Given the description of an element on the screen output the (x, y) to click on. 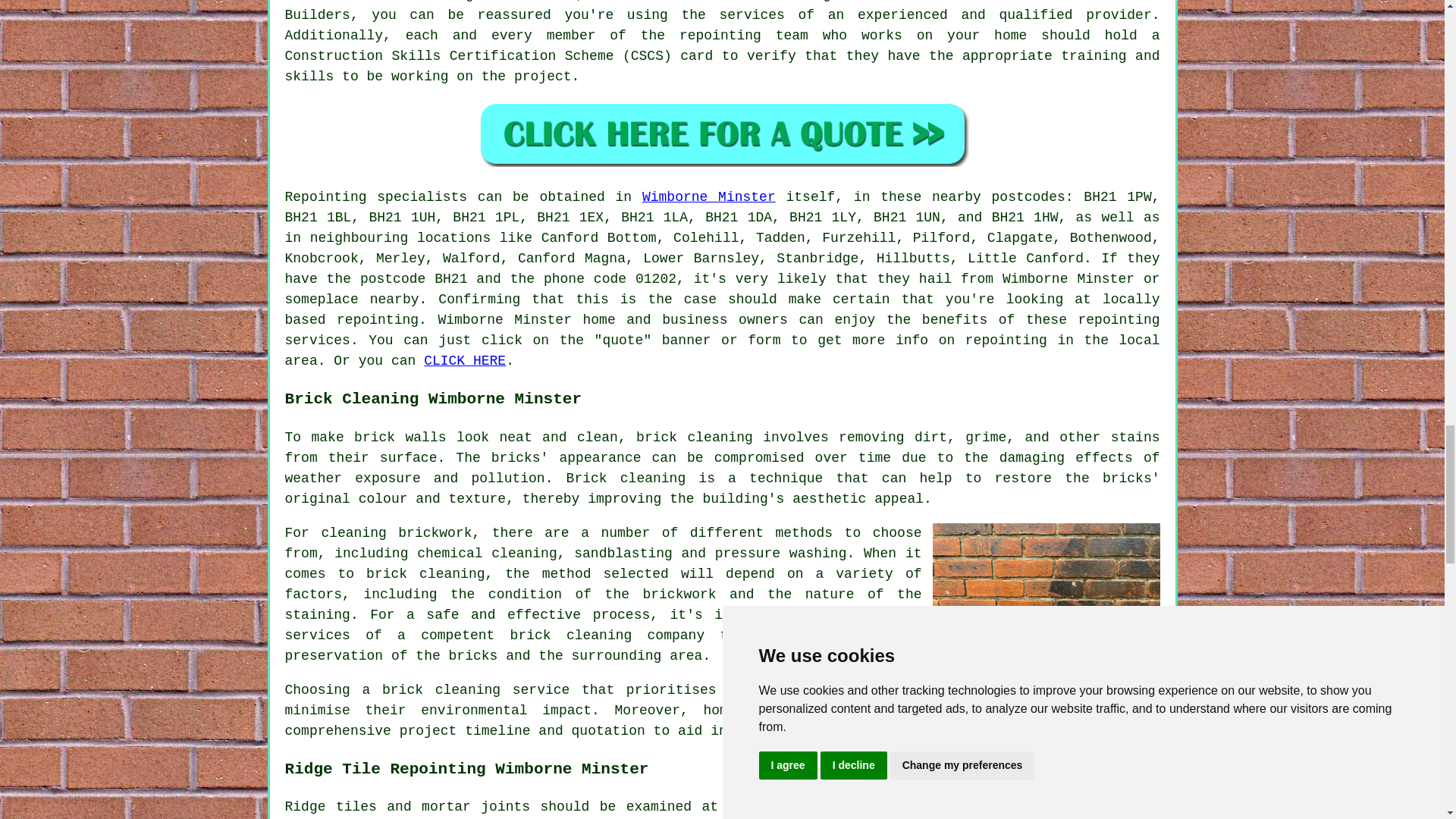
Repointing (325, 196)
Book a Repointing Specialist in Wimborne Minster UK (722, 133)
Brick Cleaning Wimborne Minster (1046, 597)
repointing (1005, 340)
